Given the description of an element on the screen output the (x, y) to click on. 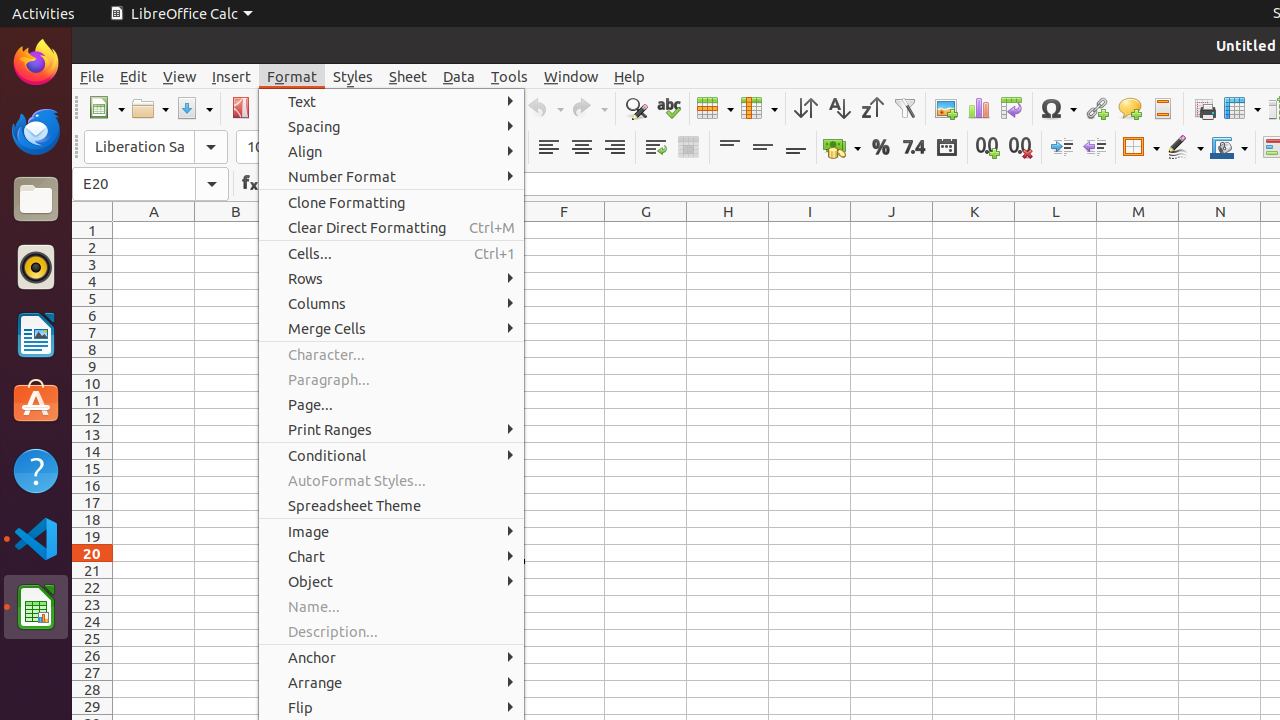
Font Name Element type: combo-box (156, 147)
Rows Element type: menu (391, 278)
AutoFilter Element type: push-button (904, 108)
Styles Element type: menu (353, 76)
Object Element type: menu (391, 581)
